Given the description of an element on the screen output the (x, y) to click on. 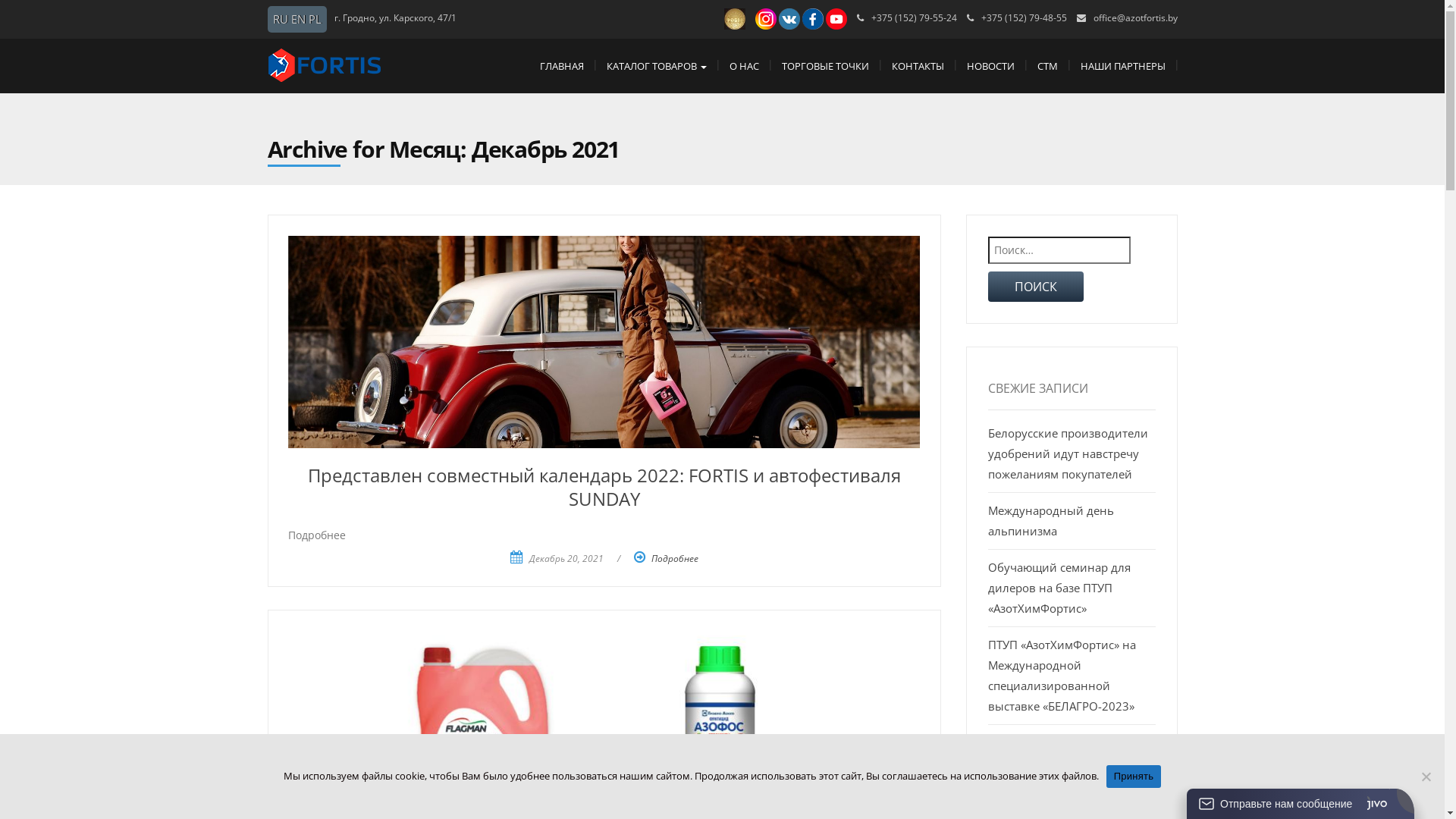
office@azotfortis.by Element type: text (1135, 17)
EN Element type: text (298, 18)
RU Element type: text (280, 18)
PL Element type: text (313, 18)
